Given the description of an element on the screen output the (x, y) to click on. 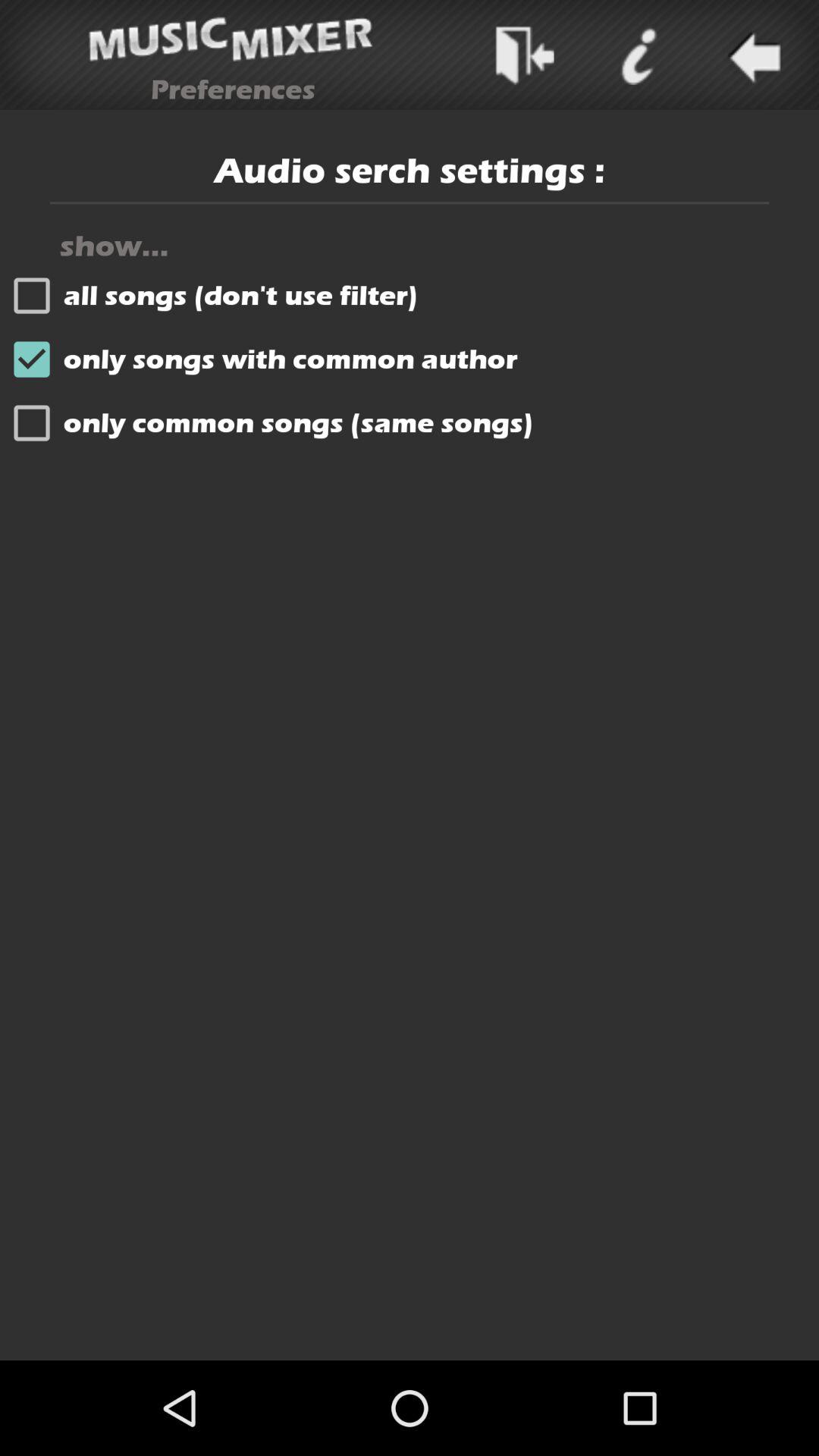
exit app (523, 54)
